Given the description of an element on the screen output the (x, y) to click on. 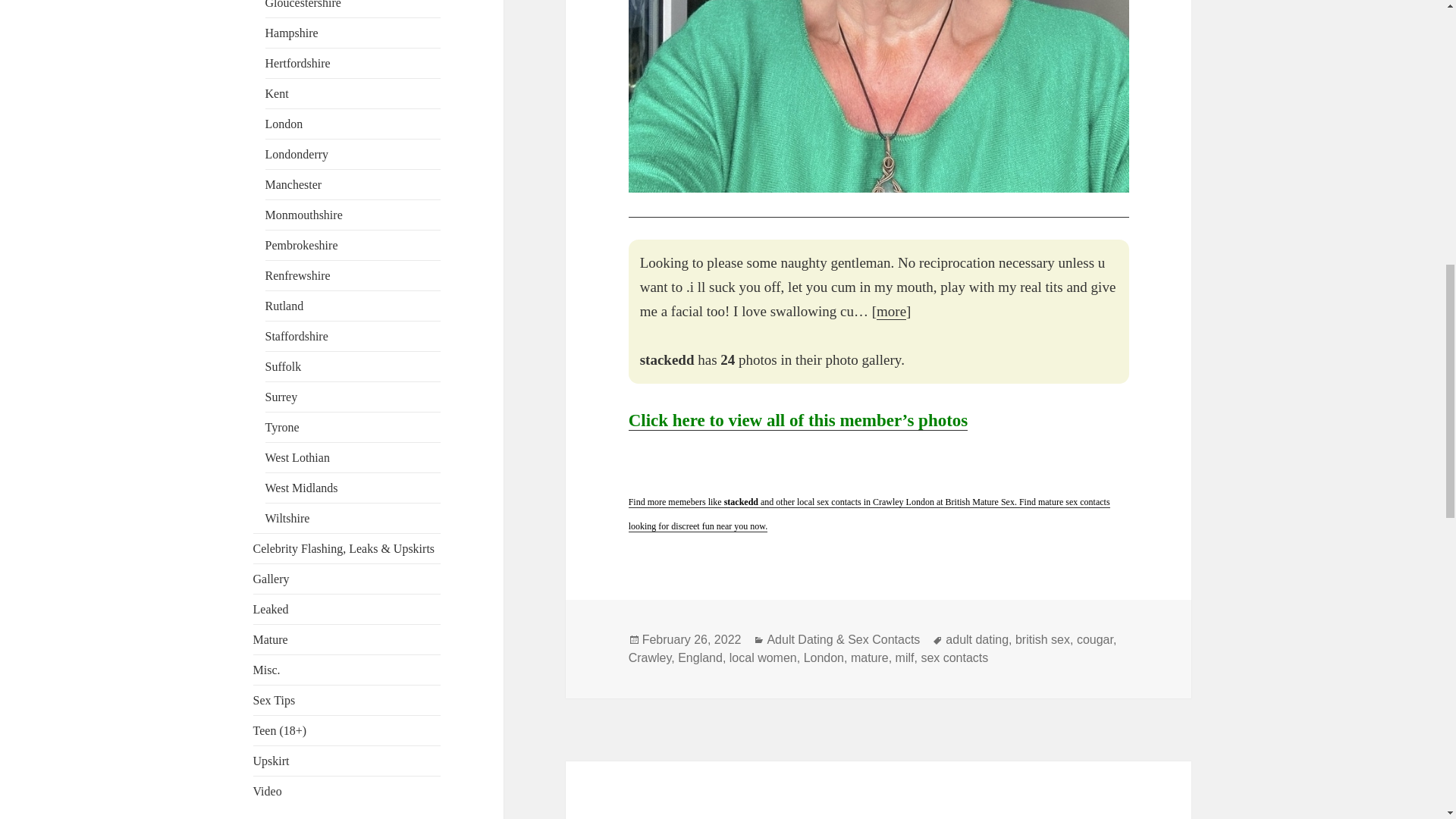
Suffolk (282, 366)
Mature (270, 639)
Hampshire (291, 32)
Rutland (284, 305)
West Lothian (297, 457)
Tyrone (281, 427)
Upskirt (271, 760)
Monmouthshire (303, 214)
Hertfordshire (297, 62)
Renfrewshire (297, 275)
Manchester (292, 184)
Wiltshire (287, 517)
Sex Tips (274, 699)
Leaked (270, 608)
Kent (276, 92)
